Given the description of an element on the screen output the (x, y) to click on. 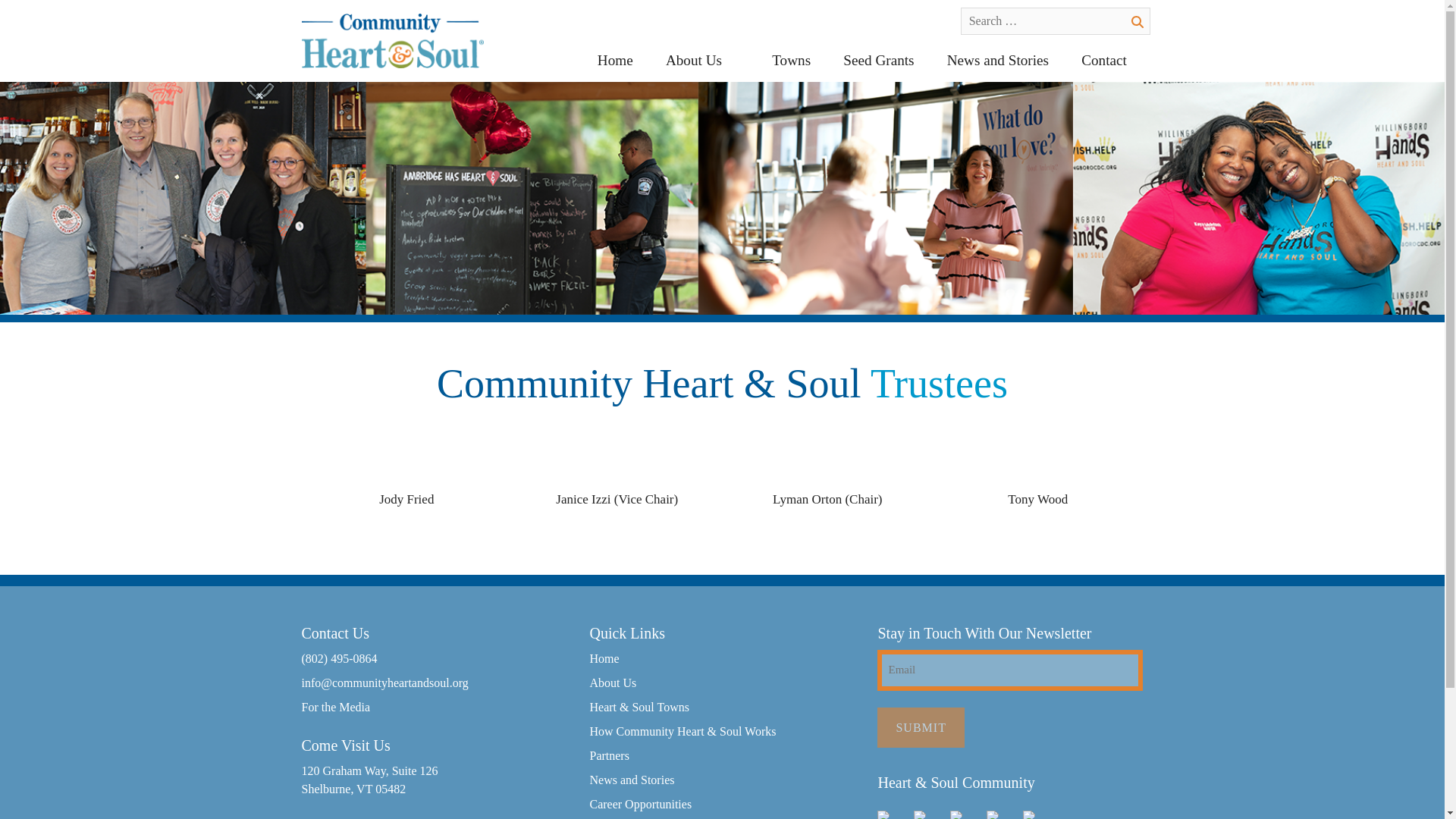
About Us (612, 682)
News and Stories (631, 779)
Partners (608, 755)
Home (614, 59)
Tony Wood (1037, 498)
News and Stories (997, 59)
Contact (1103, 59)
Towns (791, 59)
Seed Grants (878, 59)
Home (603, 658)
Community Heart and Soul (377, 104)
Career Opportunities (640, 803)
About Us (702, 59)
Jody Fried (406, 498)
Submit (920, 726)
